Given the description of an element on the screen output the (x, y) to click on. 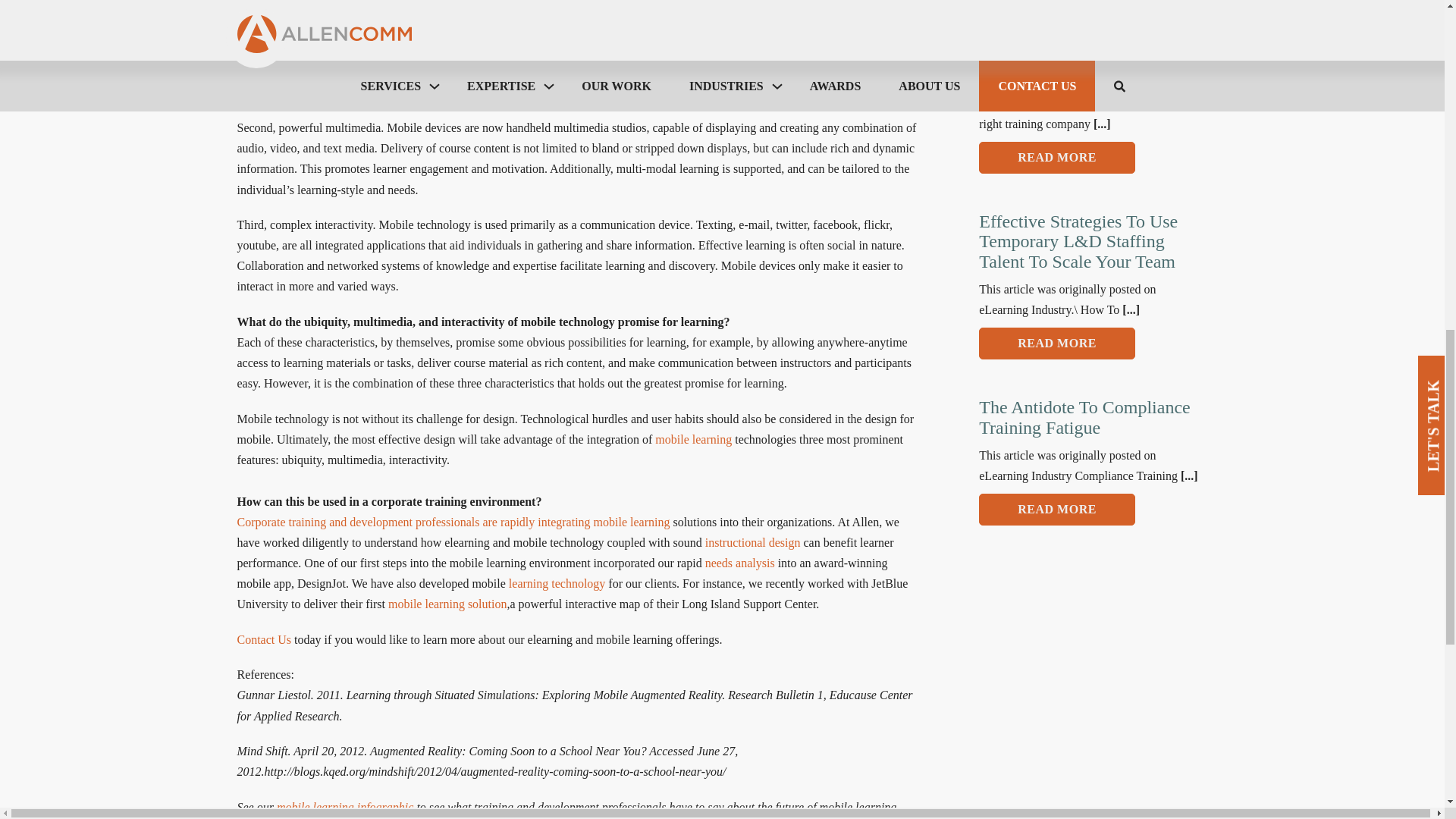
ELearning company contact (263, 639)
mobile learning development (447, 603)
mobile learning infographic (344, 807)
